Given the description of an element on the screen output the (x, y) to click on. 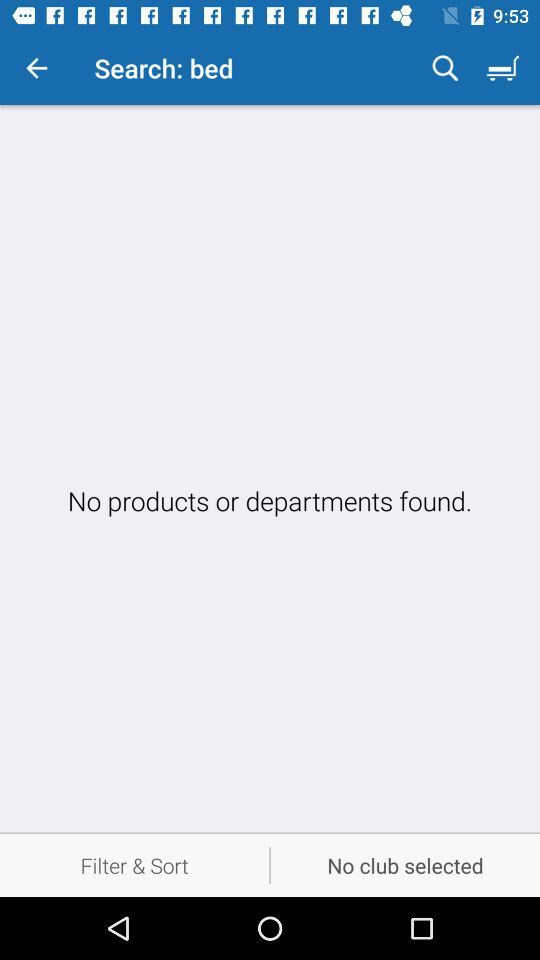
tap the item next to the search: bed icon (36, 68)
